Given the description of an element on the screen output the (x, y) to click on. 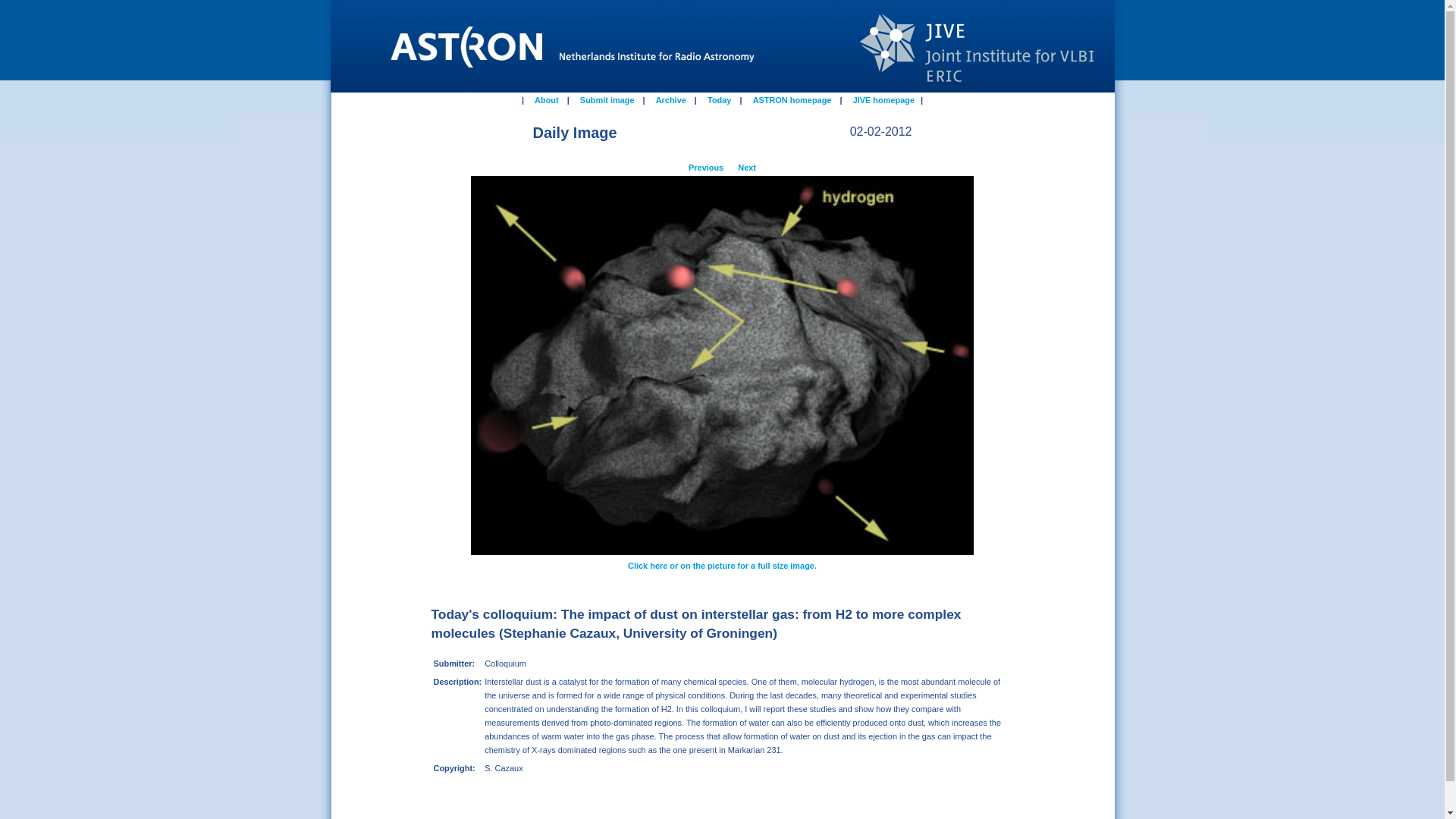
Next (745, 165)
JIVE homepage (883, 98)
About (546, 98)
ASTRON homepage (792, 98)
Submit image (607, 98)
Archive (671, 98)
Previous (707, 165)
Today (719, 98)
Click here or on the picture for a full size image. (722, 563)
